Given the description of an element on the screen output the (x, y) to click on. 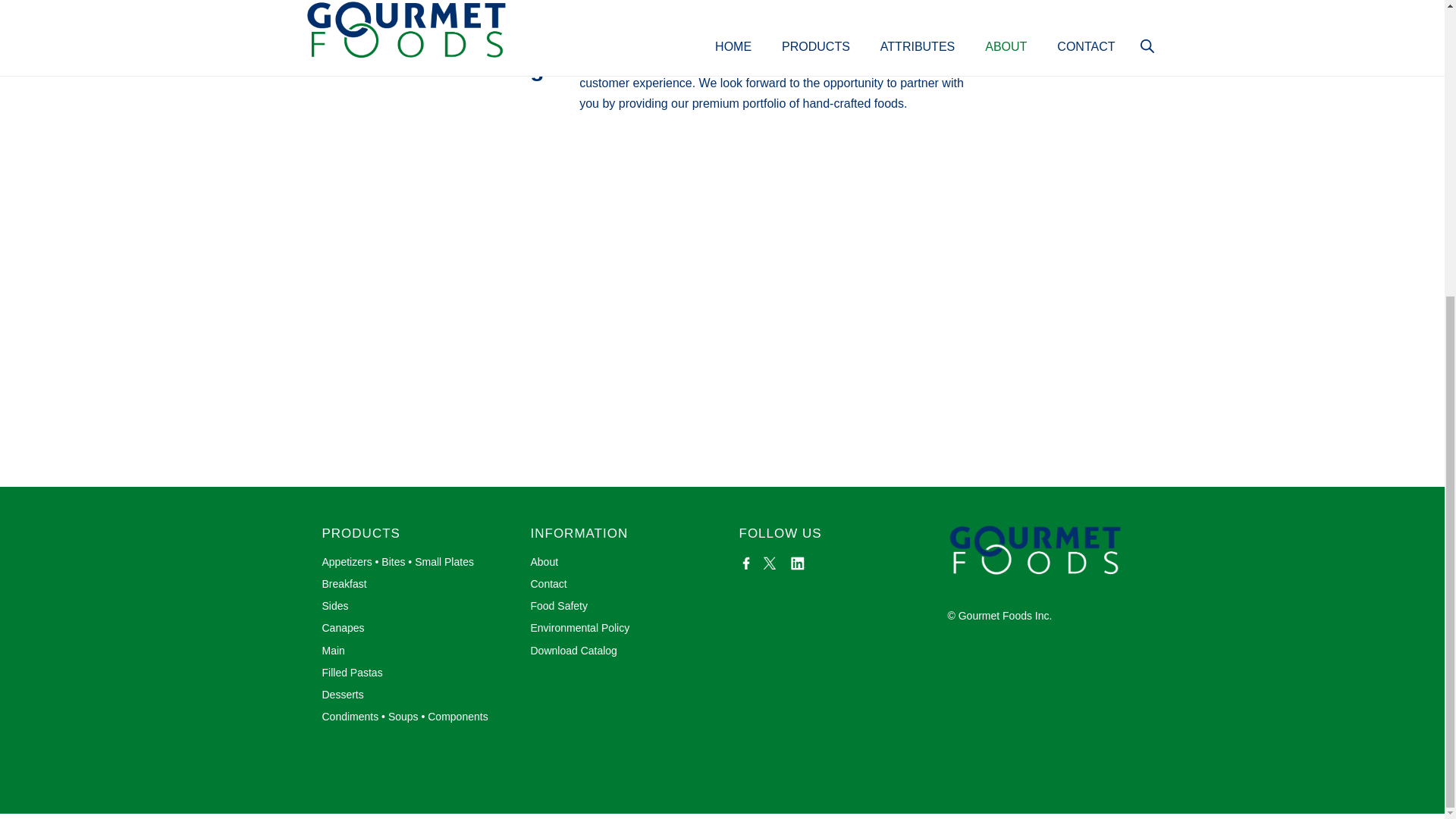
bshot-sesame-chicken-broch-sil2 (938, 5)
Facebook (746, 562)
